Given the description of an element on the screen output the (x, y) to click on. 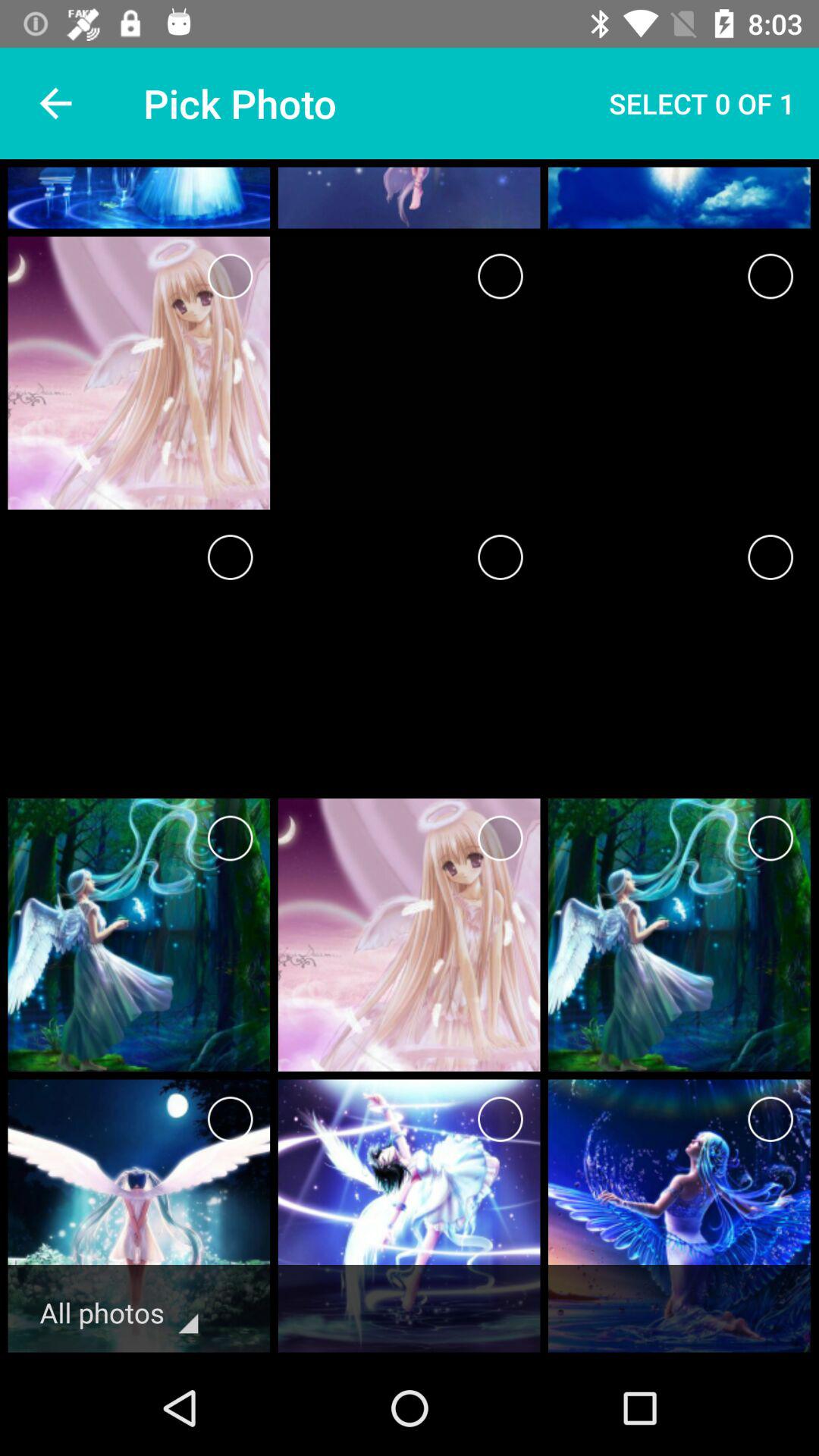
select that pic (500, 557)
